Given the description of an element on the screen output the (x, y) to click on. 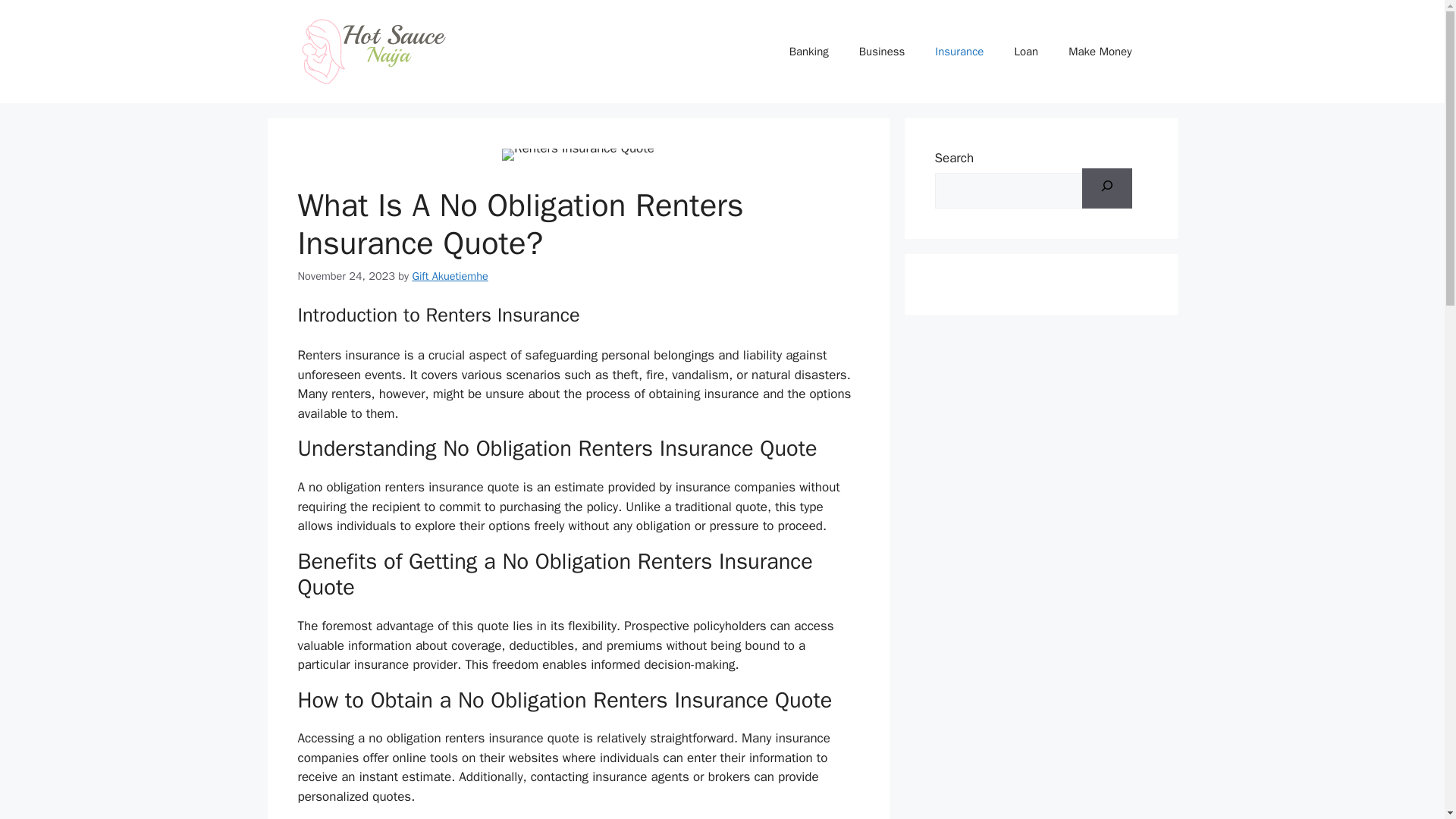
Business (882, 51)
Loan (1025, 51)
Banking (809, 51)
Gift Akuetiemhe (449, 275)
Make Money (1099, 51)
View all posts by Gift Akuetiemhe (449, 275)
Insurance (959, 51)
